Given the description of an element on the screen output the (x, y) to click on. 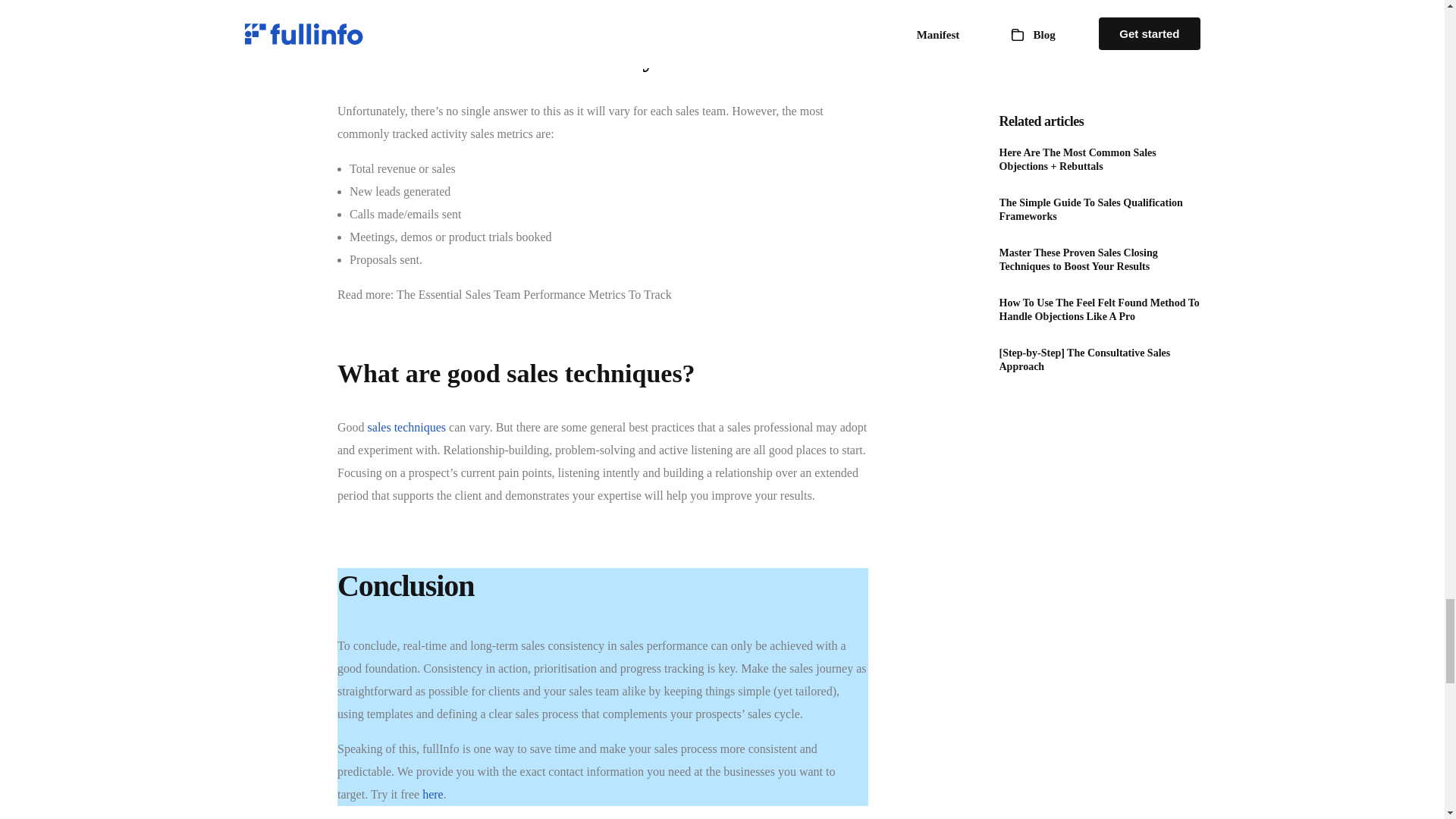
sales techniques (407, 427)
here (433, 793)
